Given the description of an element on the screen output the (x, y) to click on. 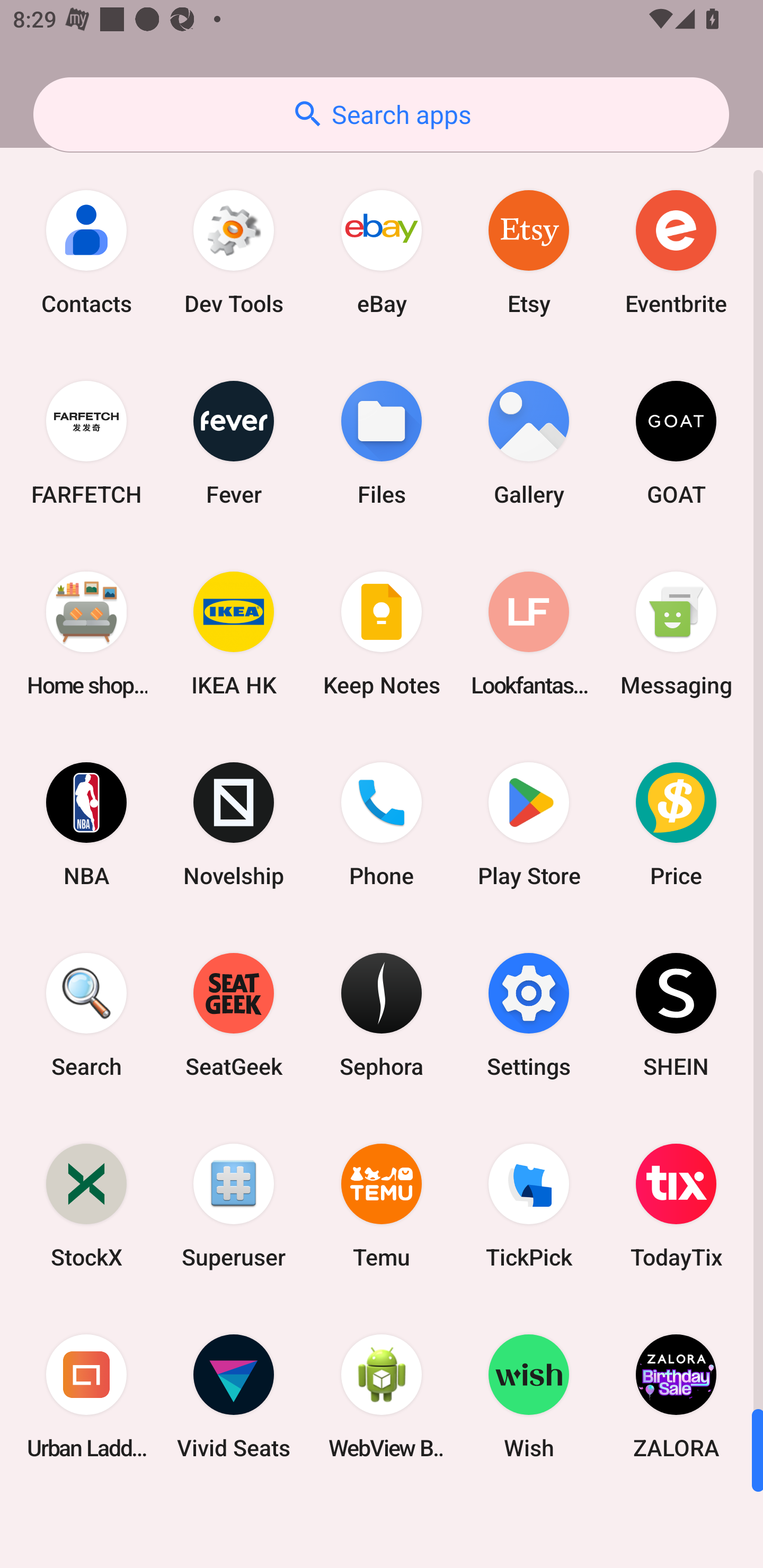
  Search apps (381, 114)
Contacts (86, 252)
Dev Tools (233, 252)
eBay (381, 252)
Etsy (528, 252)
Eventbrite (676, 252)
FARFETCH (86, 442)
Fever (233, 442)
Files (381, 442)
Gallery (528, 442)
GOAT (676, 442)
Home shopping (86, 633)
IKEA HK (233, 633)
Keep Notes (381, 633)
Lookfantastic (528, 633)
Messaging (676, 633)
NBA (86, 823)
Novelship (233, 823)
Phone (381, 823)
Play Store (528, 823)
Price (676, 823)
Search (86, 1014)
SeatGeek (233, 1014)
Sephora (381, 1014)
Settings (528, 1014)
SHEIN (676, 1014)
StockX (86, 1205)
Superuser (233, 1205)
Temu (381, 1205)
TickPick (528, 1205)
TodayTix (676, 1205)
Urban Ladder (86, 1396)
Vivid Seats (233, 1396)
WebView Browser Tester (381, 1396)
Wish (528, 1396)
ZALORA (676, 1396)
